Given the description of an element on the screen output the (x, y) to click on. 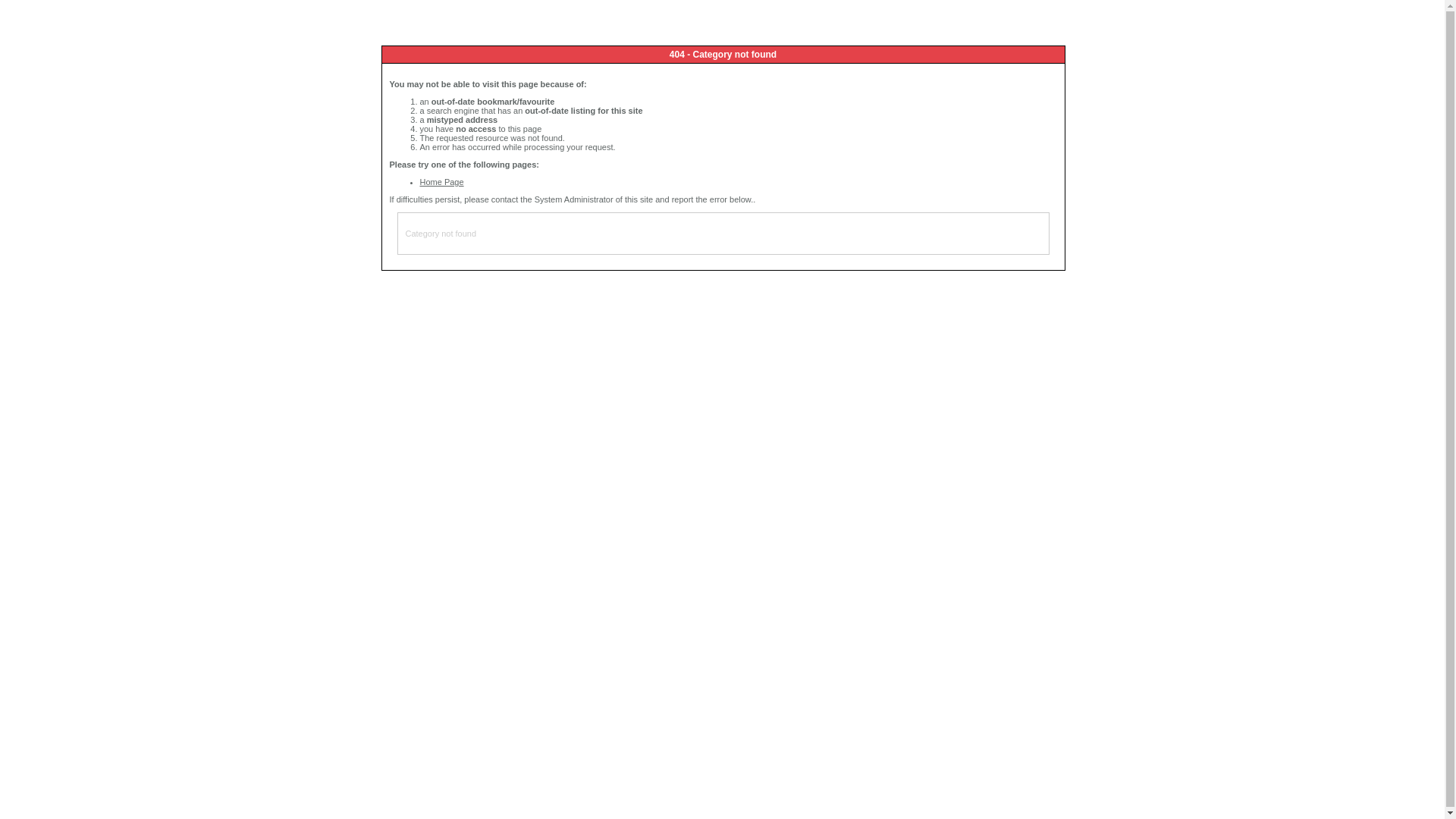
Home Page Element type: text (442, 181)
